Given the description of an element on the screen output the (x, y) to click on. 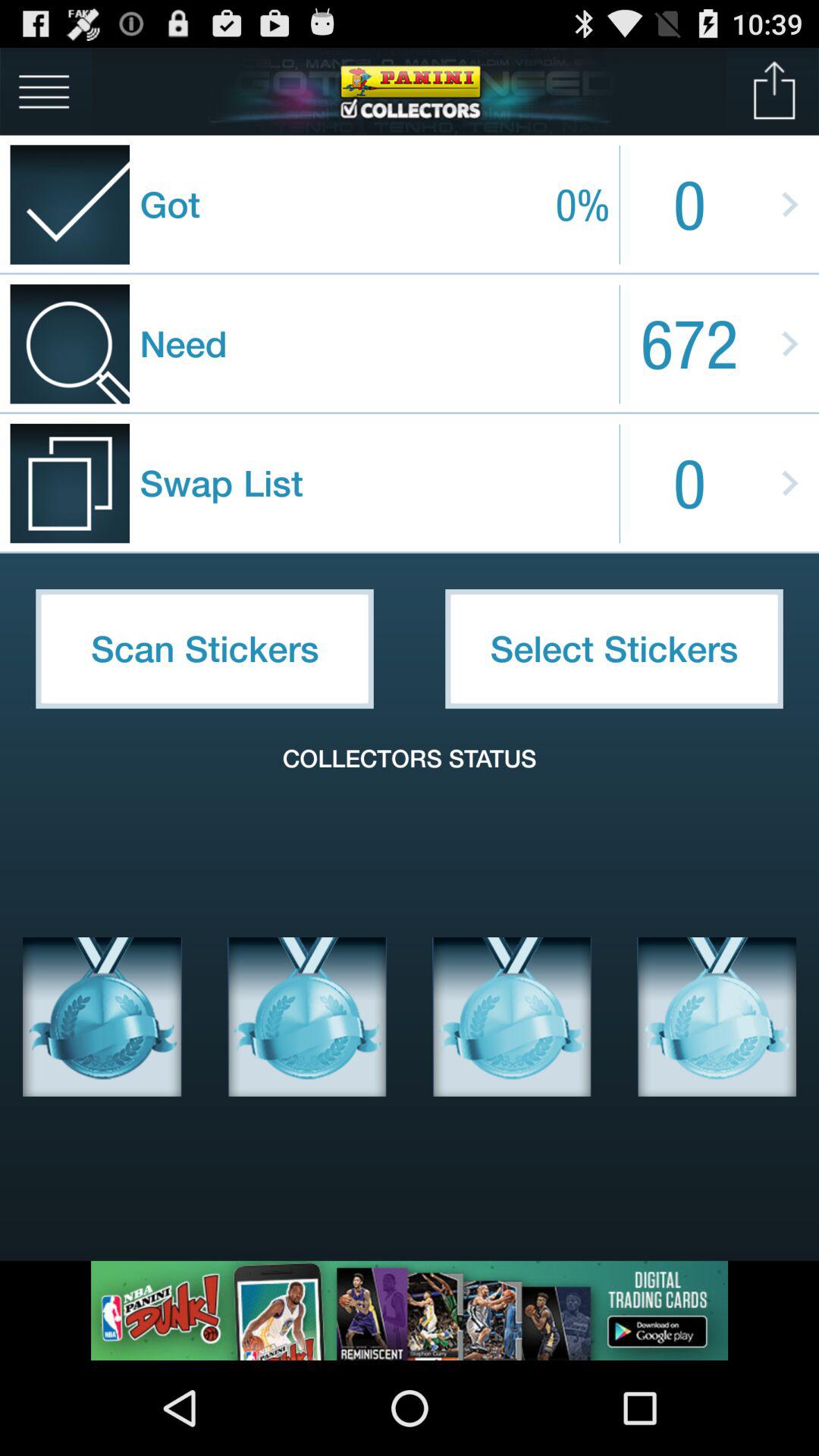
open banner advertisement (409, 1310)
